Given the description of an element on the screen output the (x, y) to click on. 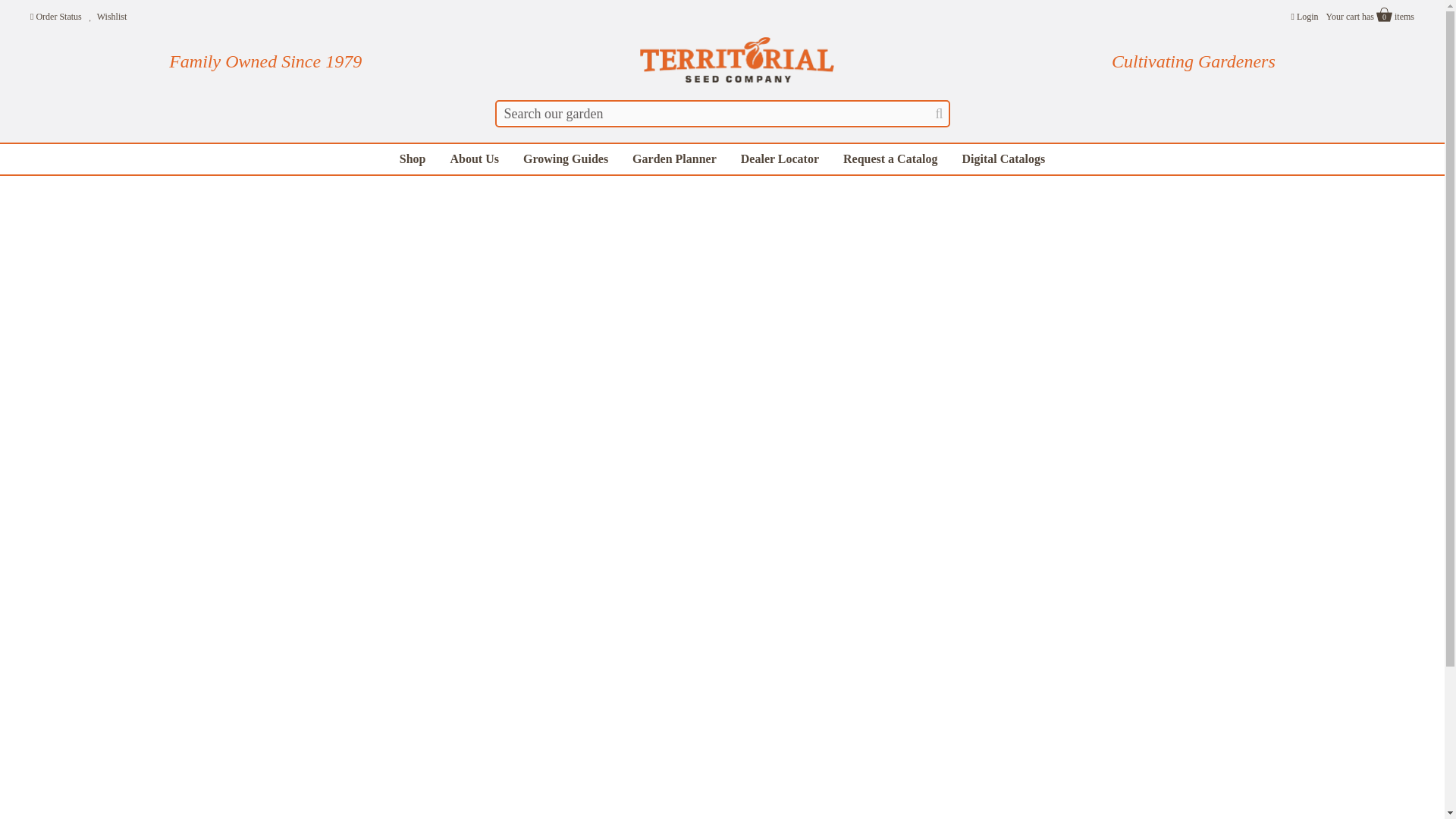
Shop (412, 159)
Your cart has 0 items (1369, 16)
Wishlist (116, 16)
Shop (412, 159)
Login (1303, 16)
Order Status (55, 16)
